Given the description of an element on the screen output the (x, y) to click on. 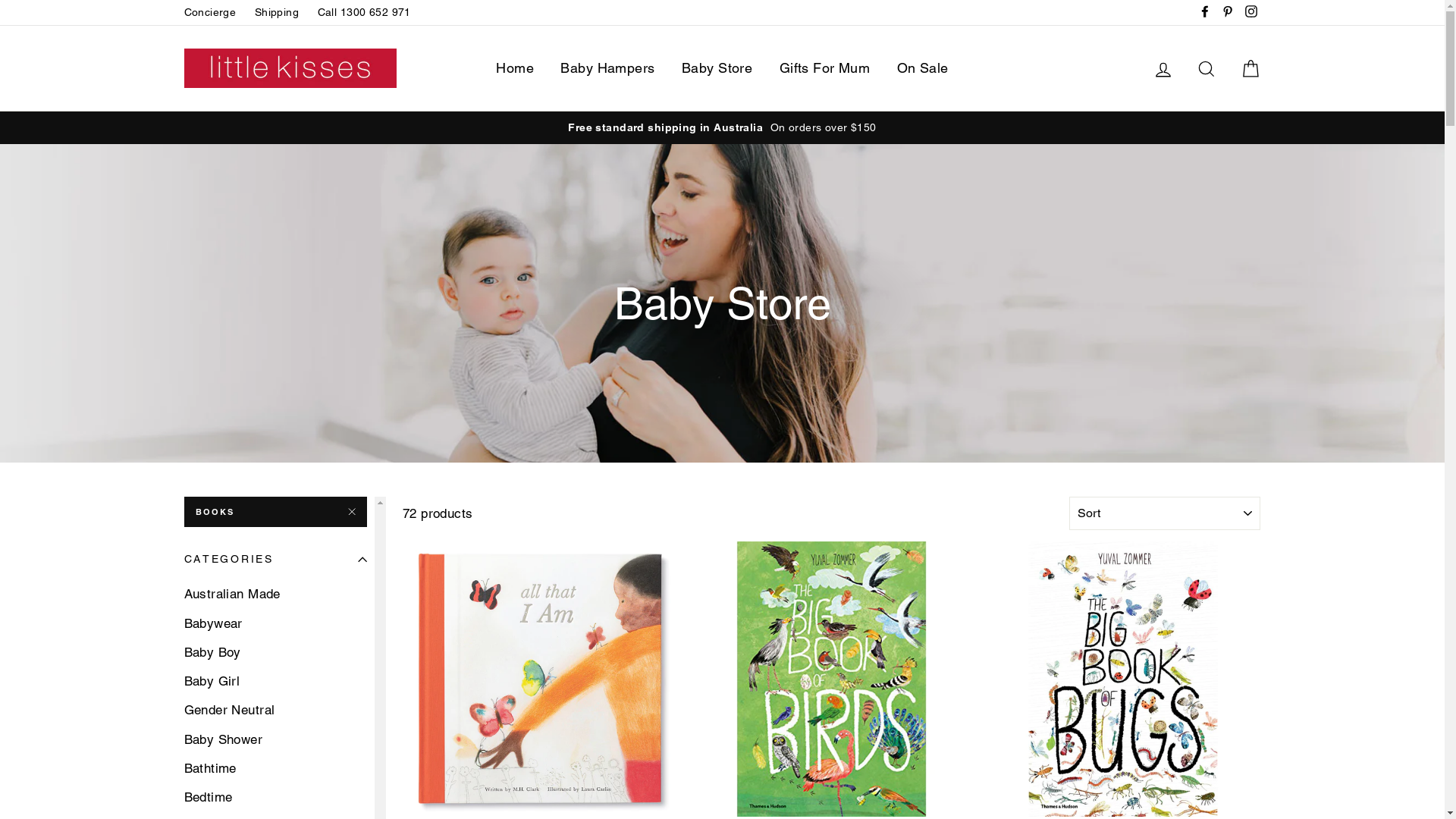
Shipping Element type: text (276, 12)
Facebook Element type: text (1204, 12)
Pinterest Element type: text (1227, 12)
Concierge Element type: text (209, 12)
Babywear Element type: text (274, 623)
Bathtime Element type: text (274, 768)
Home Element type: text (514, 67)
Gender Neutral Element type: text (274, 709)
Search Element type: text (1206, 67)
Gifts For Mum Element type: text (824, 67)
Log in Element type: text (1163, 67)
Australian Made Element type: text (274, 593)
BOOKS Element type: text (274, 511)
On Sale Element type: text (922, 67)
Baby Store Element type: text (716, 67)
Baby Hampers Element type: text (607, 67)
Baby Boy Element type: text (274, 652)
Baby Girl Element type: text (274, 680)
CATEGORIES Element type: text (274, 559)
Skip to content Element type: text (0, 0)
Call 1300 652 971 Element type: text (364, 12)
Bedtime Element type: text (274, 796)
Baby Shower Element type: text (274, 739)
Instagram Element type: text (1250, 12)
Cart Element type: text (1249, 67)
